Given the description of an element on the screen output the (x, y) to click on. 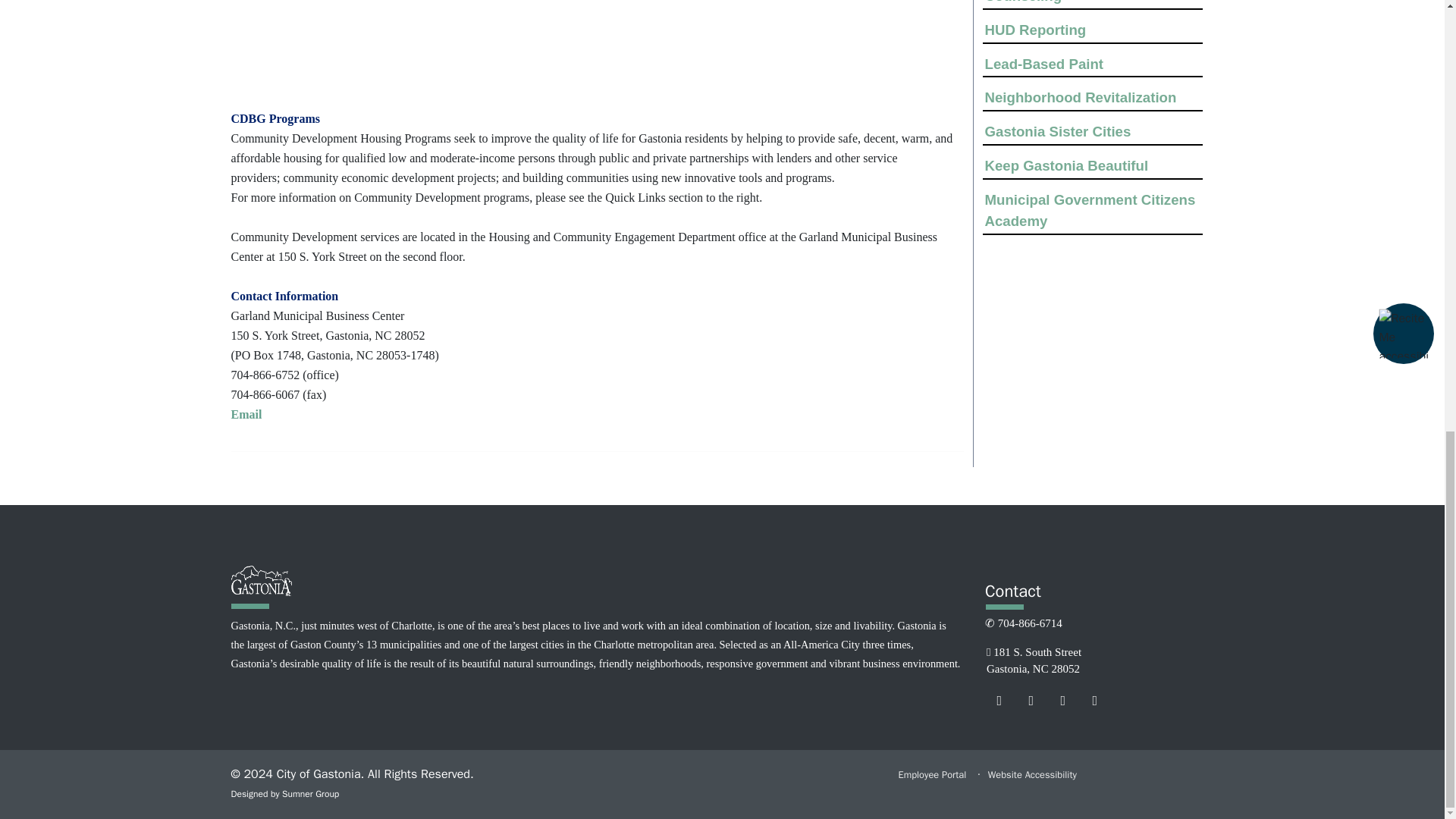
City of Gastonia Housing Rehabilitation Program (328, 45)
